Given the description of an element on the screen output the (x, y) to click on. 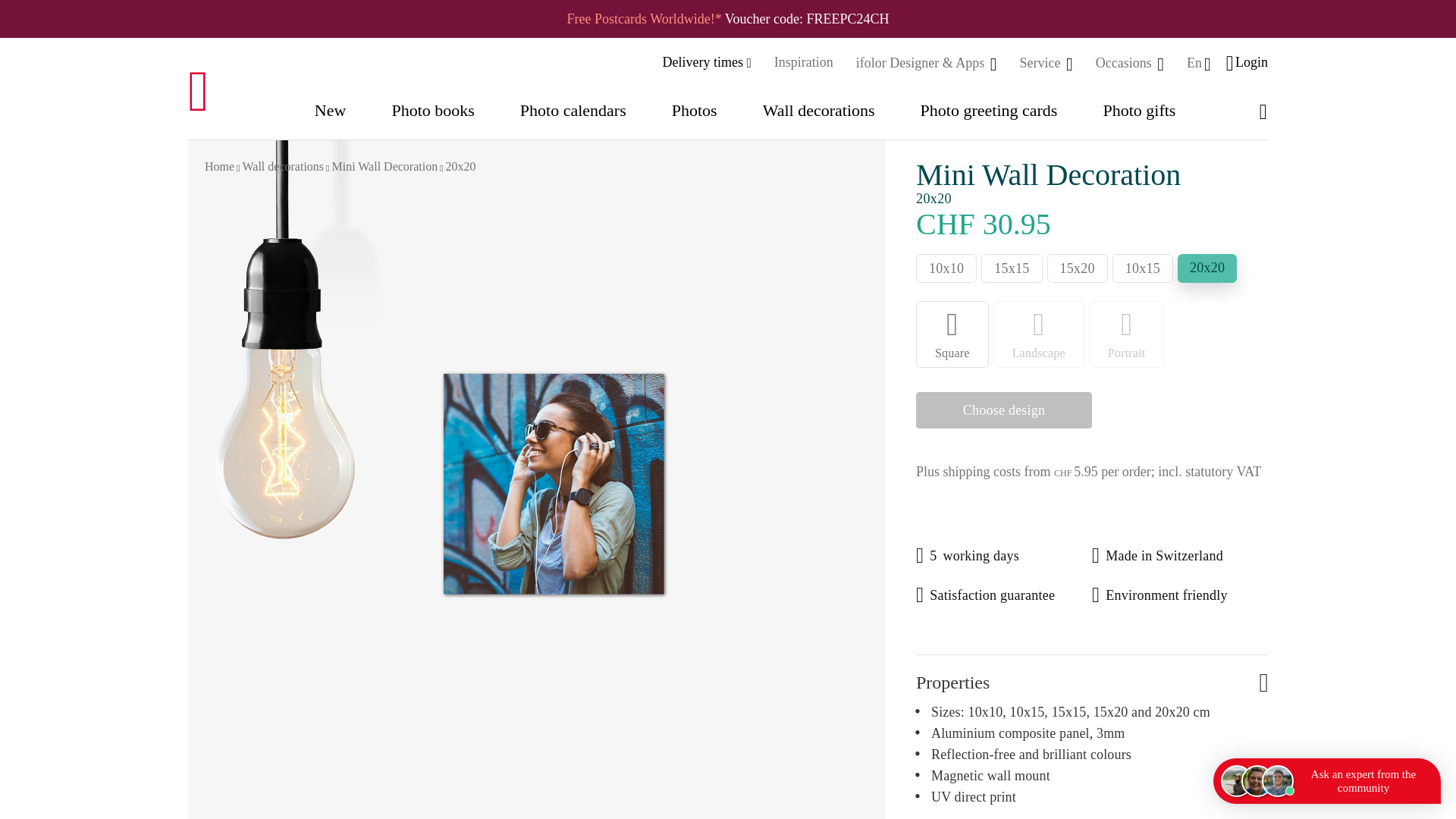
Inspiration (804, 61)
Inspiration (804, 61)
Occasions (1125, 62)
Delivery times (706, 61)
Login (1250, 61)
Delivery times (706, 61)
